Given the description of an element on the screen output the (x, y) to click on. 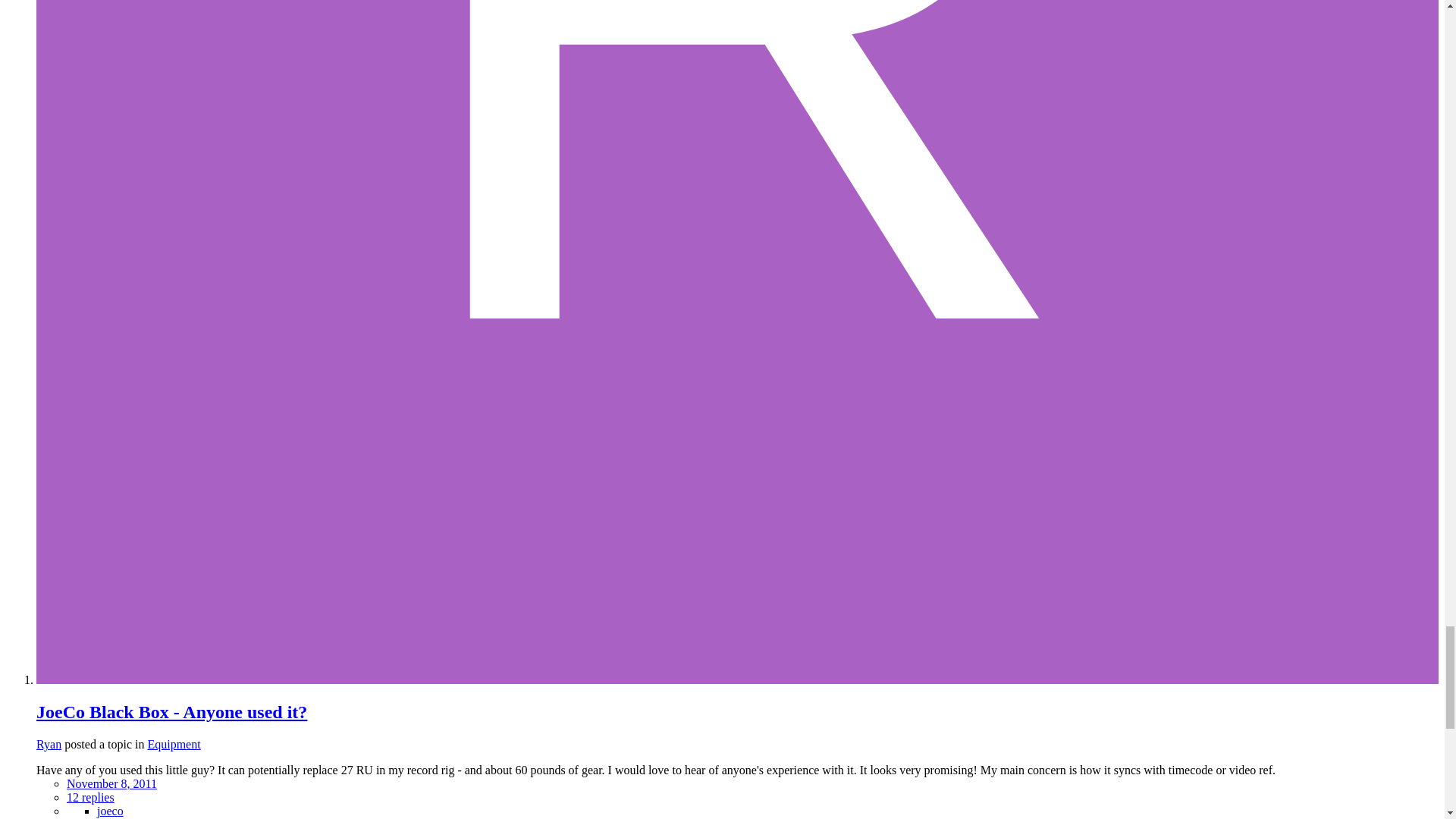
Find other content tagged with 'joeco' (110, 810)
Go to Ryan's profile (48, 744)
Find other content tagged with 'black box' (120, 818)
